Given the description of an element on the screen output the (x, y) to click on. 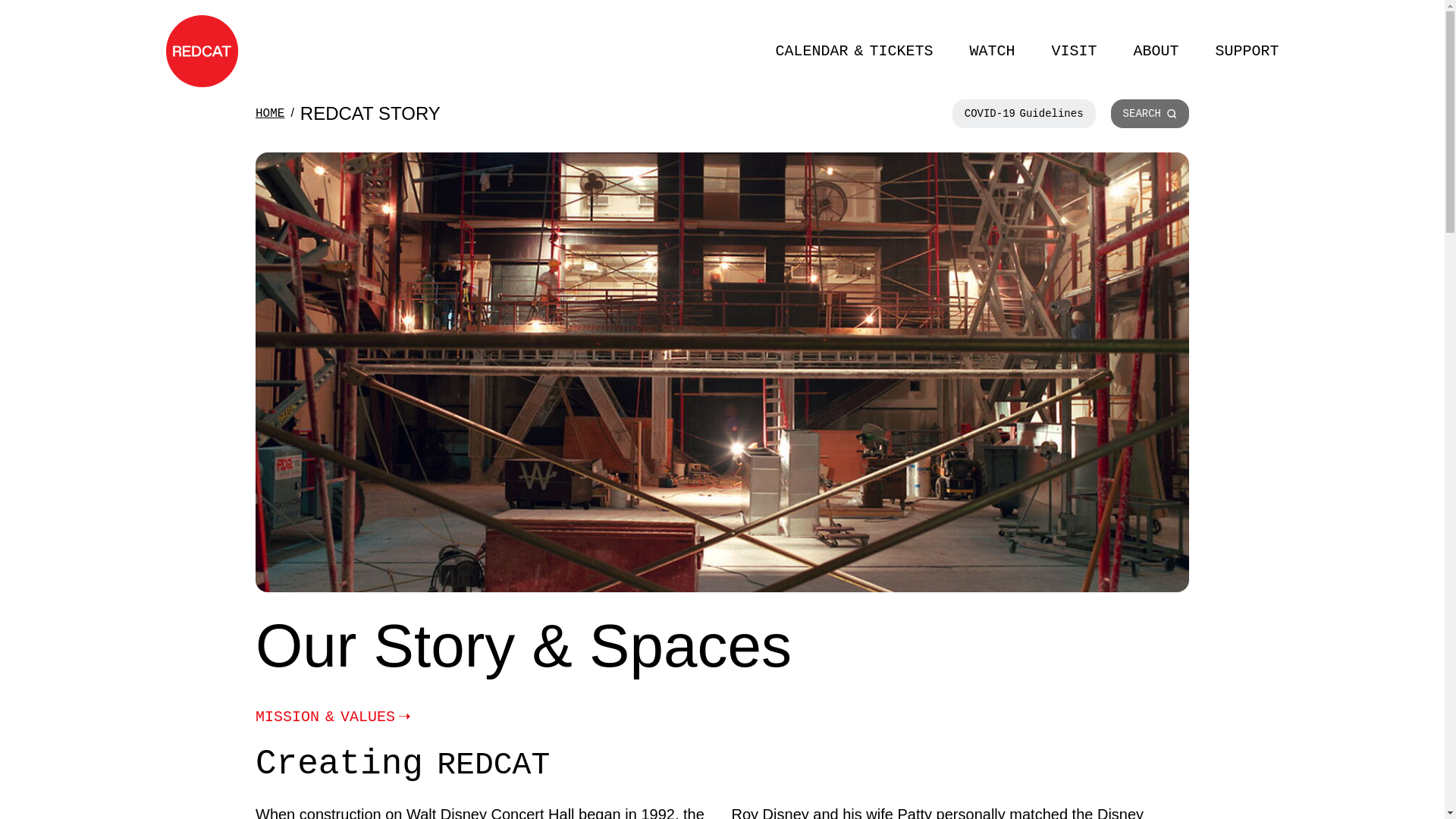
SUPPORT (1246, 50)
HOME (269, 112)
ABOUT (1154, 50)
SEARCH (1149, 113)
REDCAT (201, 50)
WATCH (991, 50)
COVID-19 Guidelines (1024, 113)
VISIT (1073, 50)
